Given the description of an element on the screen output the (x, y) to click on. 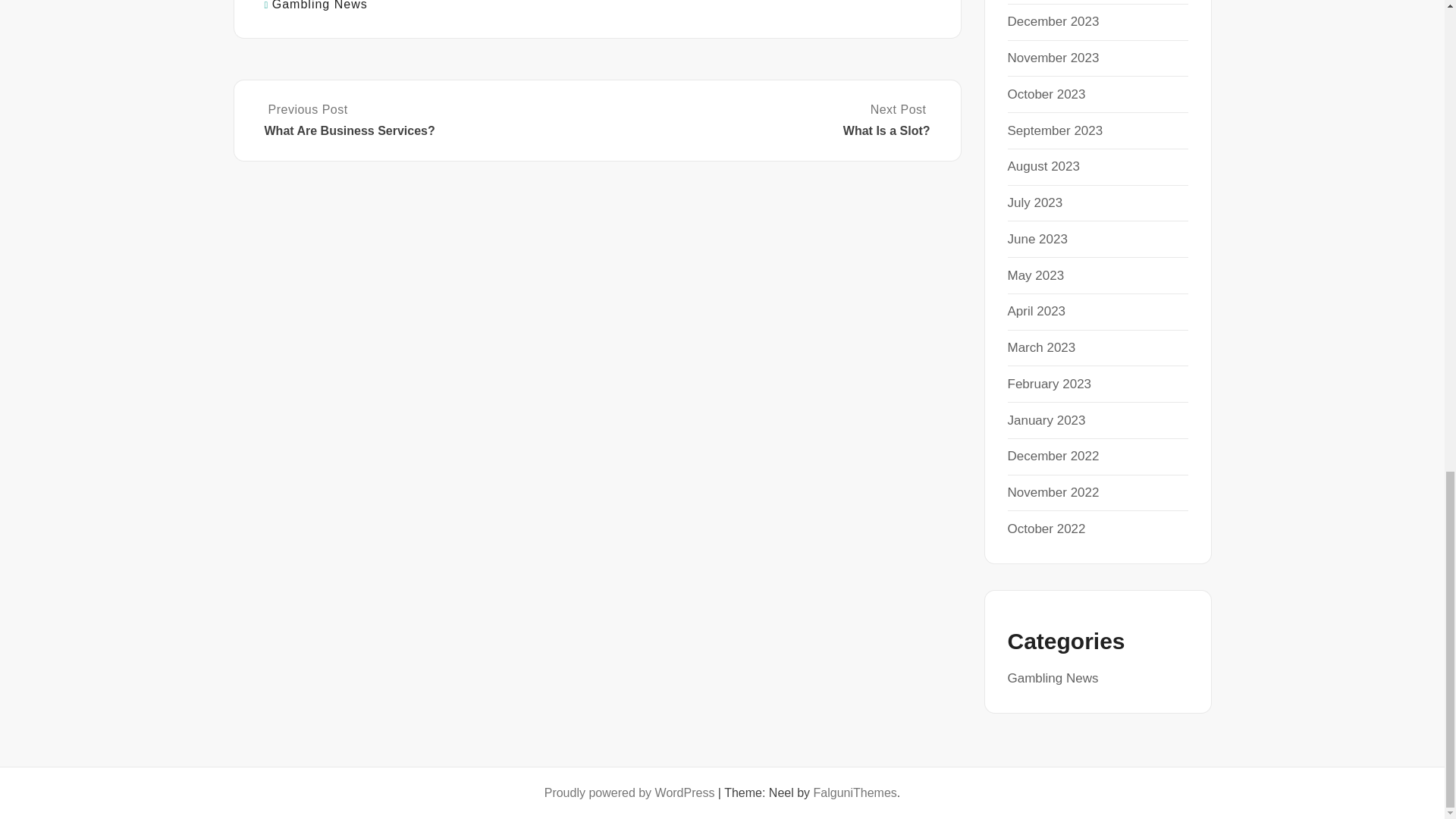
May 2023 (1035, 275)
February 2023 (1048, 383)
Gambling News (320, 5)
August 2023 (1042, 165)
July 2023 (764, 120)
December 2023 (1034, 202)
March 2023 (1053, 21)
November 2023 (1041, 347)
April 2023 (1053, 57)
January 2023 (1036, 310)
June 2023 (1045, 420)
September 2023 (1037, 238)
December 2022 (1054, 130)
